Given the description of an element on the screen output the (x, y) to click on. 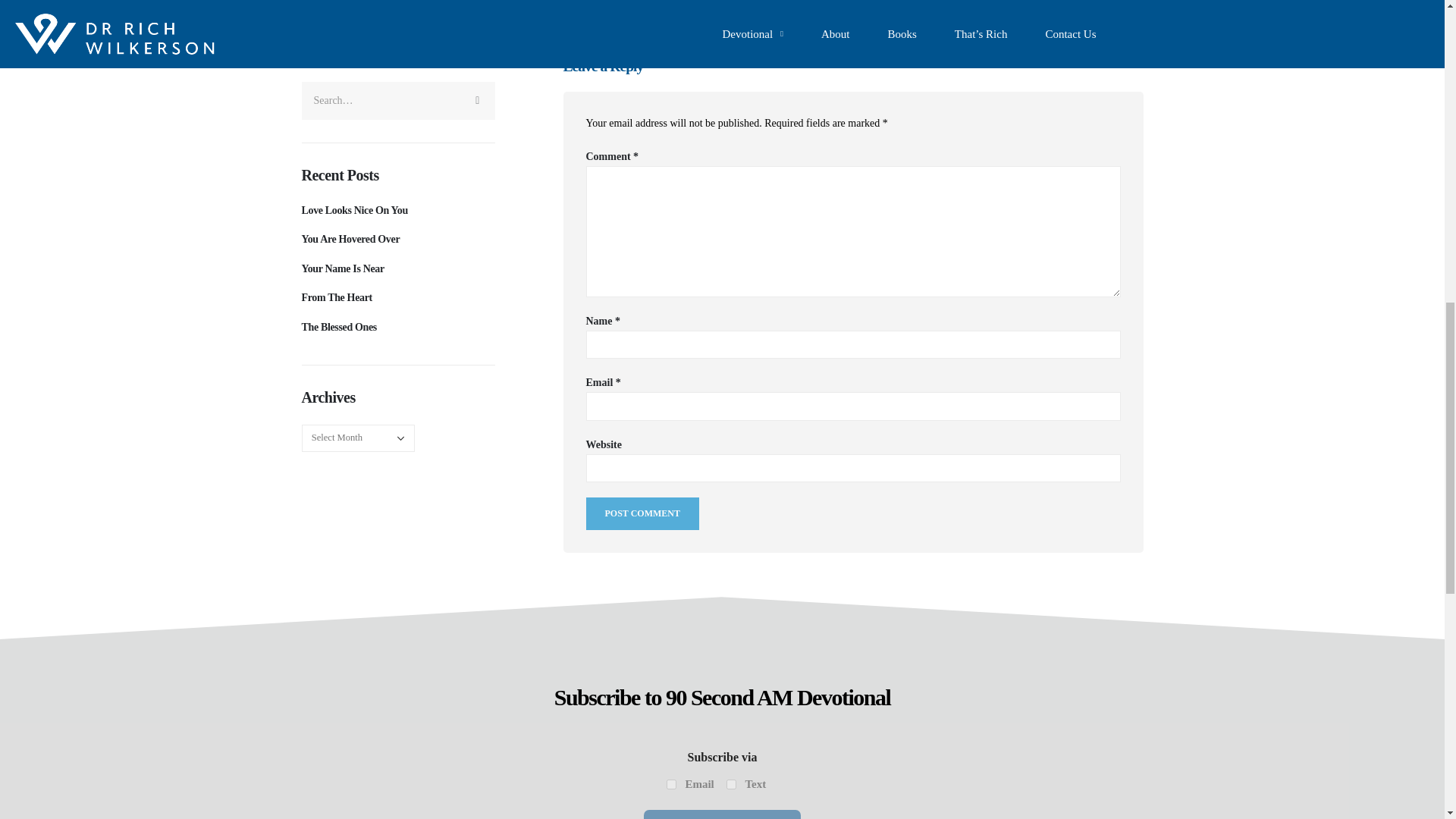
Email (695, 9)
Facebook (573, 9)
SUBSCRIBE (721, 814)
Email (671, 784)
Text (731, 784)
Post Comment (641, 513)
Twitter (604, 9)
LinkedIn (635, 9)
Post Comment (641, 513)
